Given the description of an element on the screen output the (x, y) to click on. 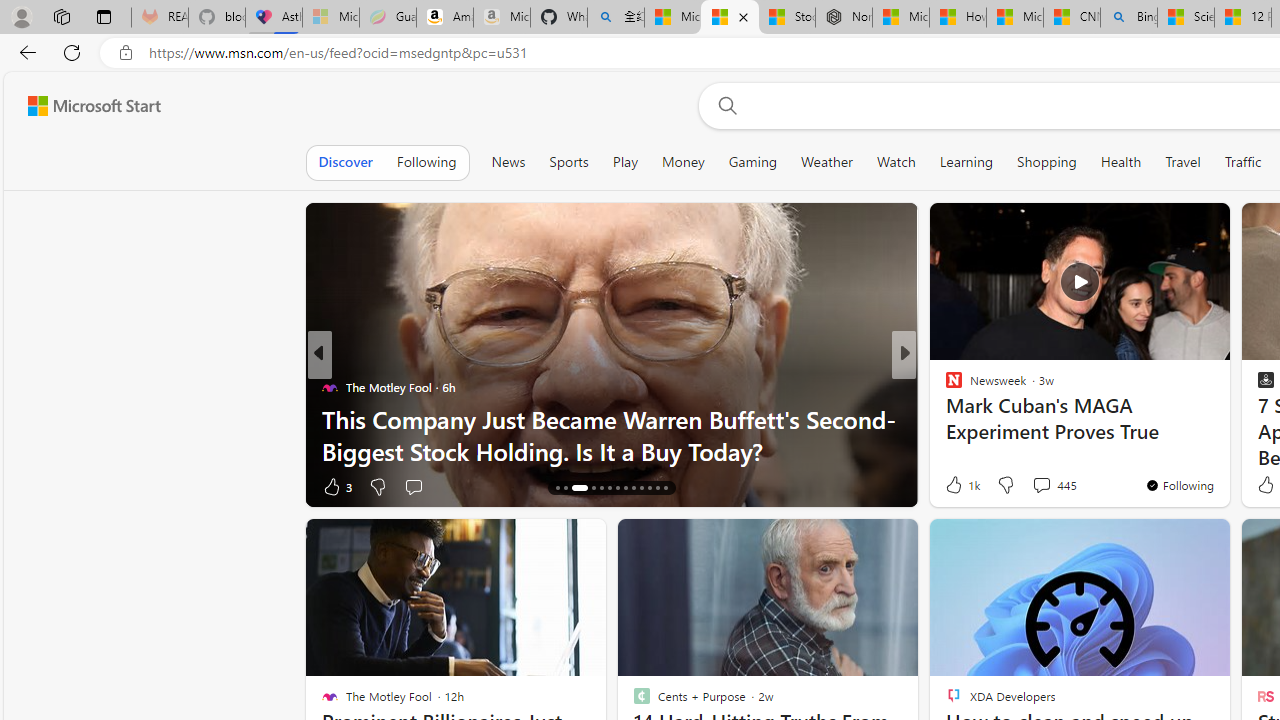
View comments 9 Comment (1042, 485)
View comments 88 Comment (1042, 485)
Traffic (1242, 162)
View comments 445 Comment (1041, 485)
AutomationID: tab-14 (556, 487)
AutomationID: tab-21 (624, 487)
View comments 2 Comment (1036, 485)
25 Like (956, 486)
Shopping (1046, 162)
